Given the description of an element on the screen output the (x, y) to click on. 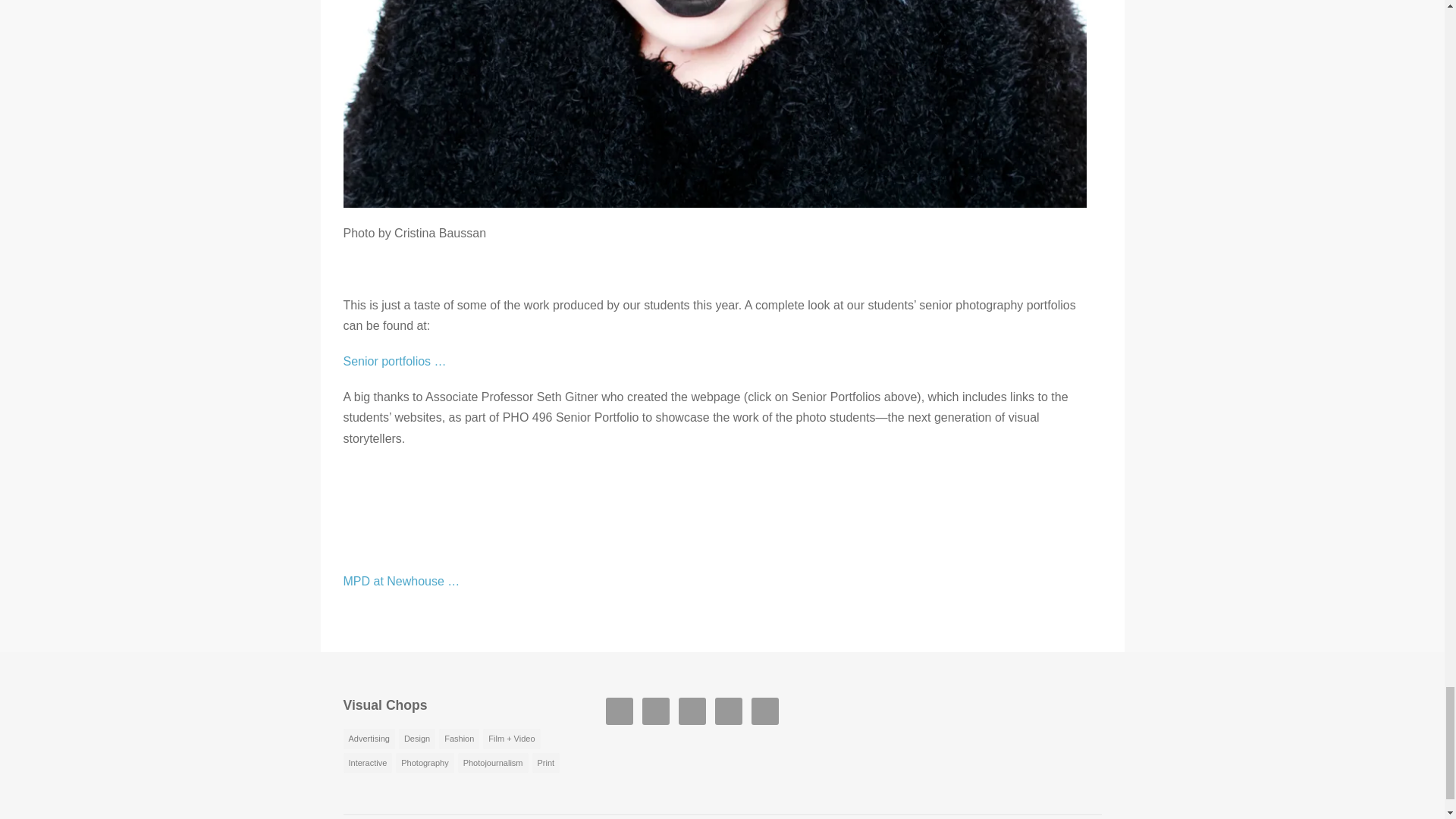
Fashion (459, 738)
Interactive (366, 762)
Photography (424, 762)
Design (416, 738)
Advertising (368, 738)
Photojournalism (493, 762)
Print (546, 762)
